Given the description of an element on the screen output the (x, y) to click on. 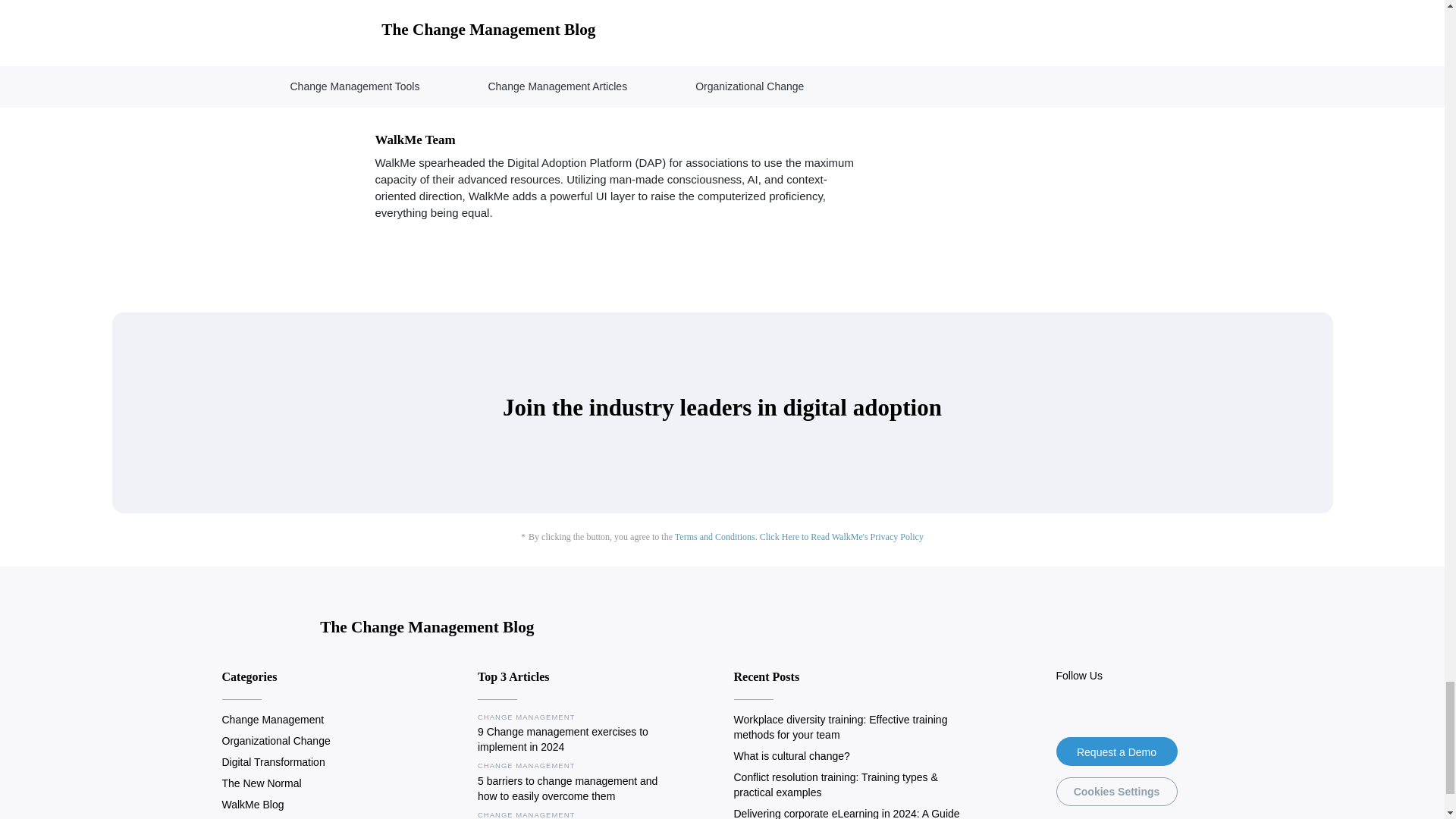
Organizational Change (275, 740)
WalkMe Team (414, 139)
Posts by WalkMe Team (414, 139)
Change Management (272, 719)
The Change Management Blog (377, 629)
